Given the description of an element on the screen output the (x, y) to click on. 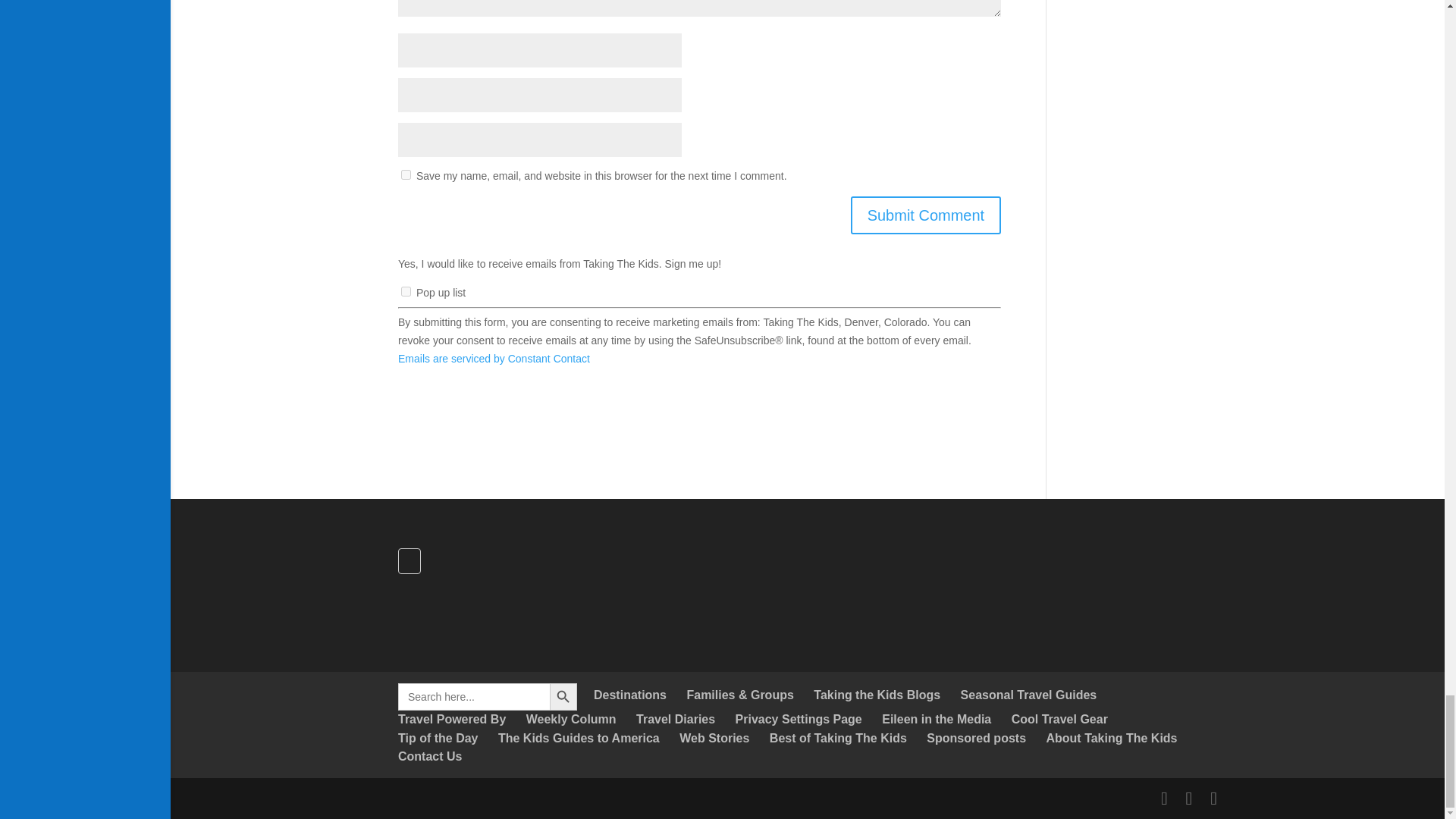
Submit Comment (925, 215)
yes (405, 174)
679276e2-a18b-11ec-9047-fa163ea6032f (405, 291)
